Given the description of an element on the screen output the (x, y) to click on. 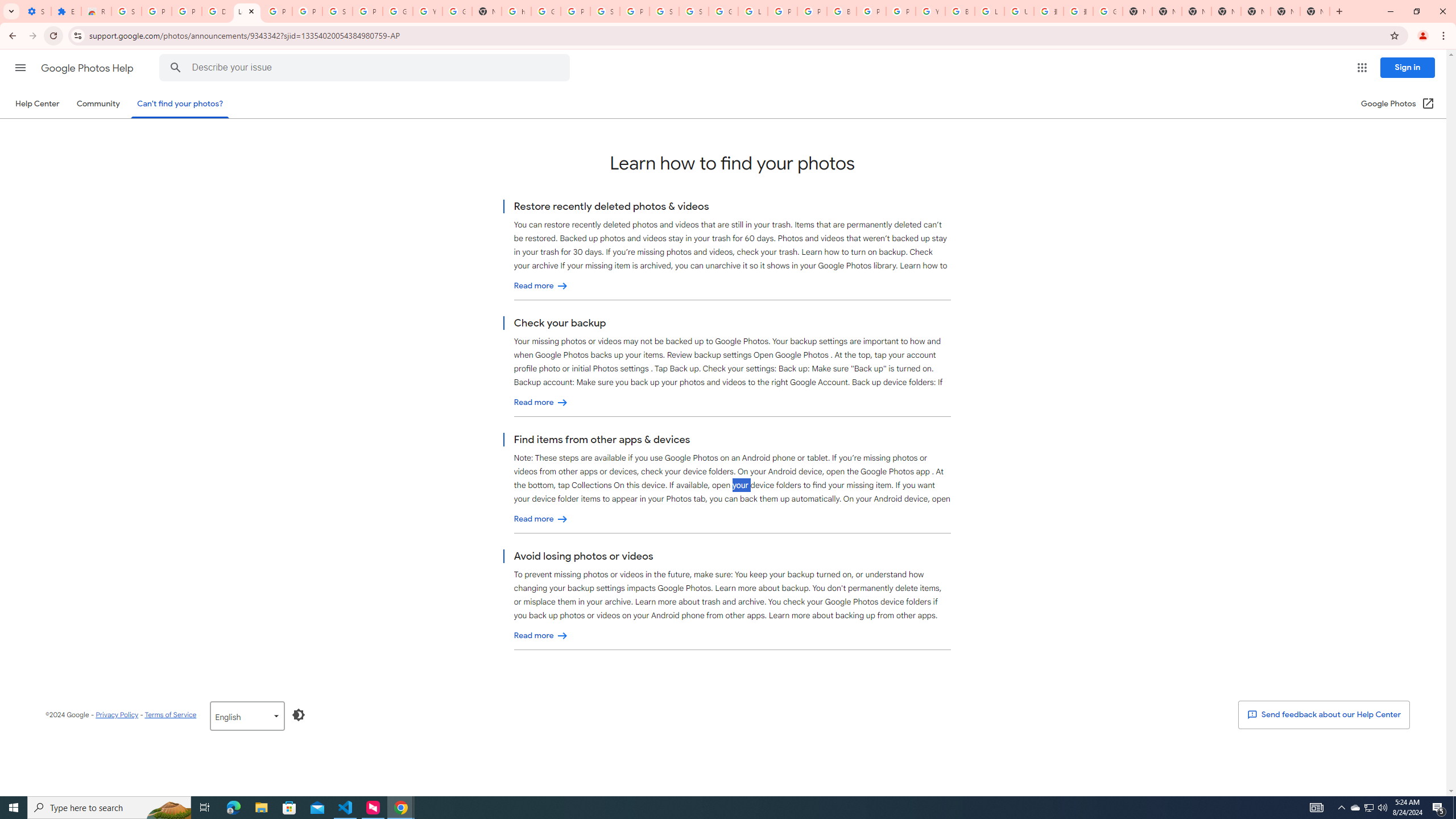
Privacy Help Center - Policies Help (782, 11)
Community (97, 103)
Reviews: Helix Fruit Jump Arcade Game (95, 11)
YouTube (426, 11)
Restore recently deleted photos & videos (541, 286)
Enable Dark Mode (299, 714)
Delete photos & videos - Computer - Google Photos Help (216, 11)
